Given the description of an element on the screen output the (x, y) to click on. 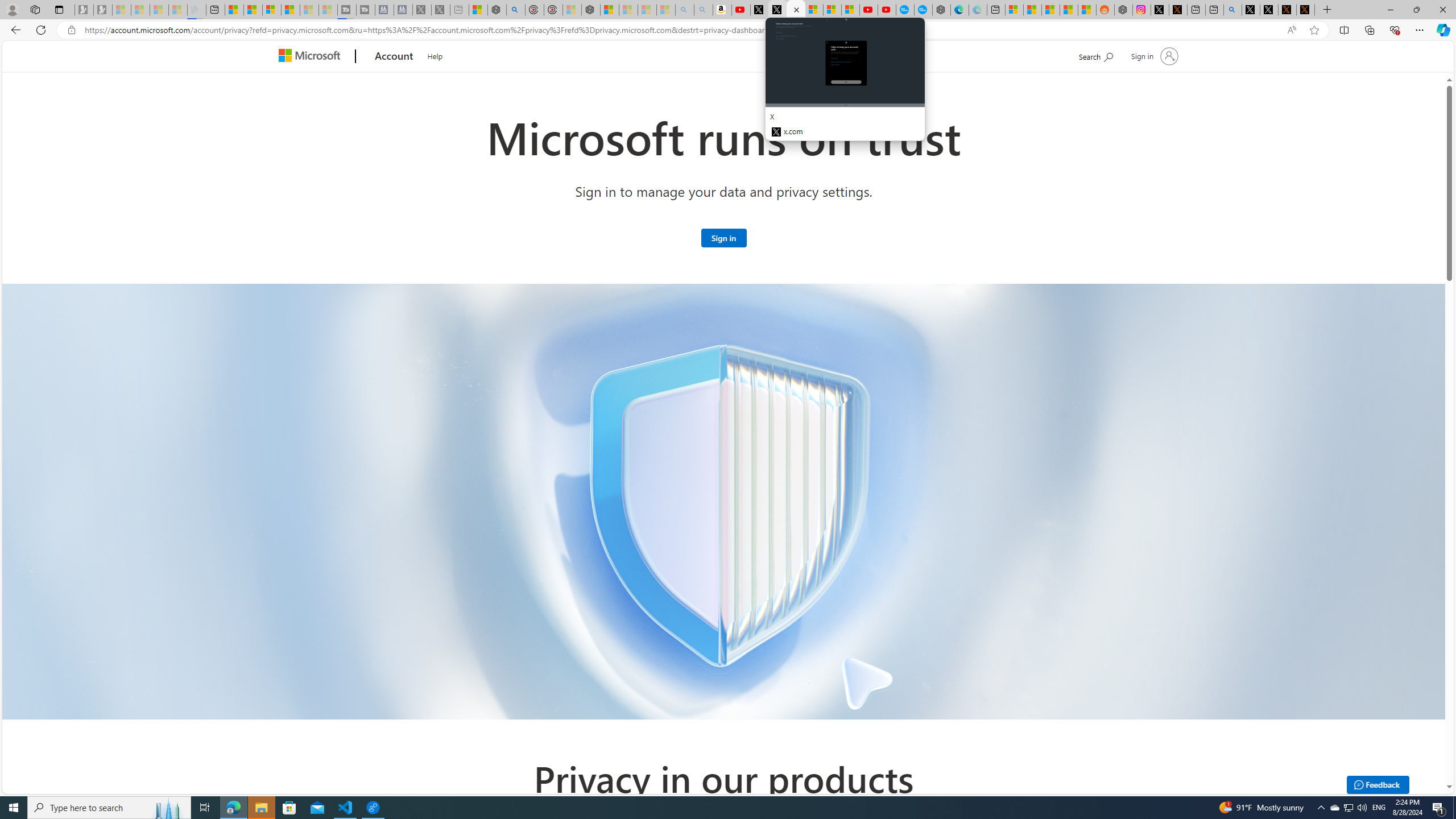
X Privacy Policy (1305, 9)
Log in to X / X (1159, 9)
poe - Search (515, 9)
Sign in to your account (1153, 55)
